Given the description of an element on the screen output the (x, y) to click on. 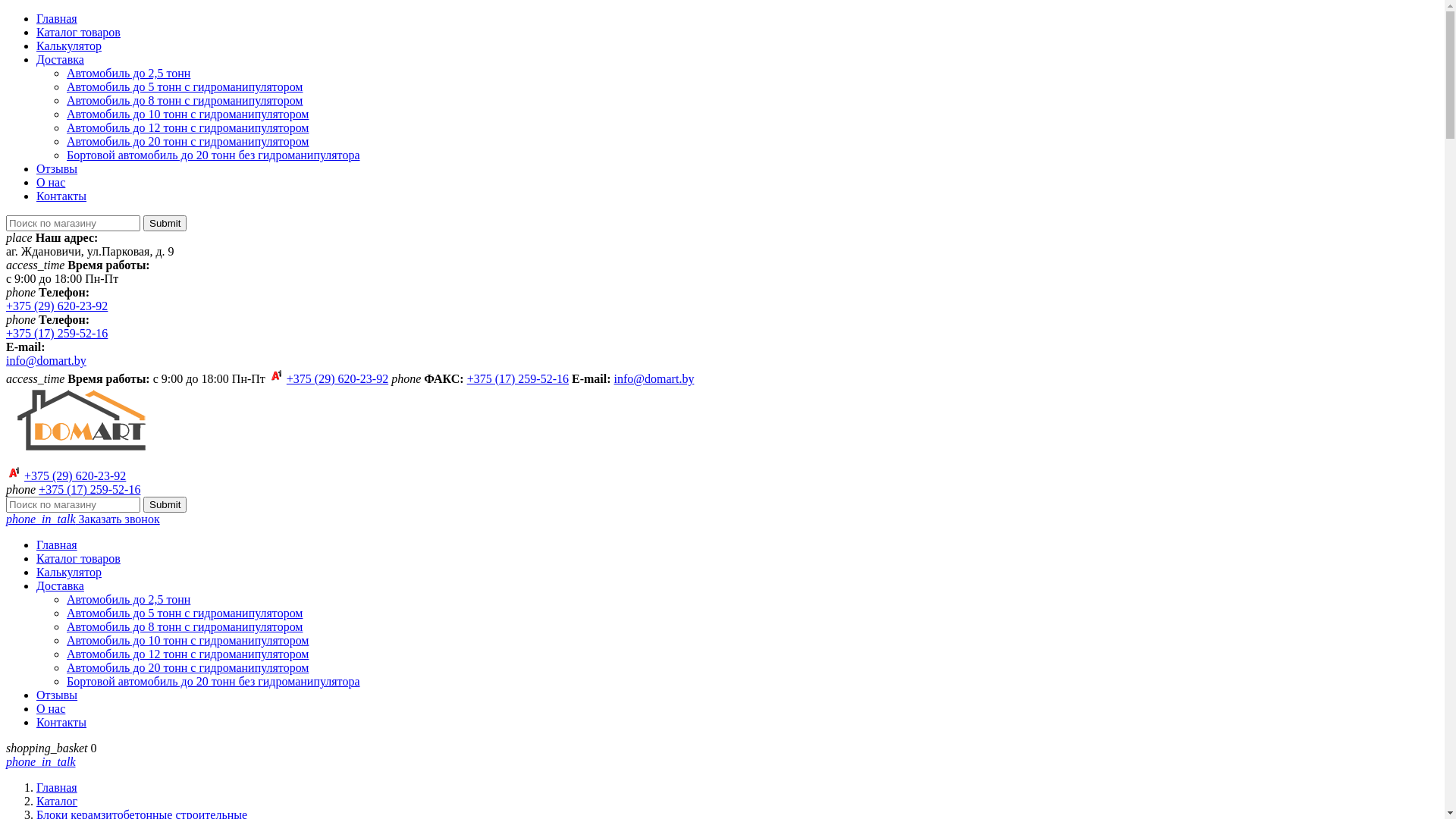
info@domart.by Element type: text (654, 378)
+375 (29) 620-23-92 Element type: text (337, 378)
+375 (17) 259-52-16 Element type: text (517, 378)
+375 (29) 620-23-92 Element type: text (74, 475)
info@domart.by Element type: text (46, 360)
phone_in_talk Element type: text (40, 761)
+375 (29) 620-23-92 Element type: text (56, 305)
+375 (17) 259-52-16 Element type: text (56, 332)
+375 (17) 259-52-16 Element type: text (89, 489)
